Given the description of an element on the screen output the (x, y) to click on. 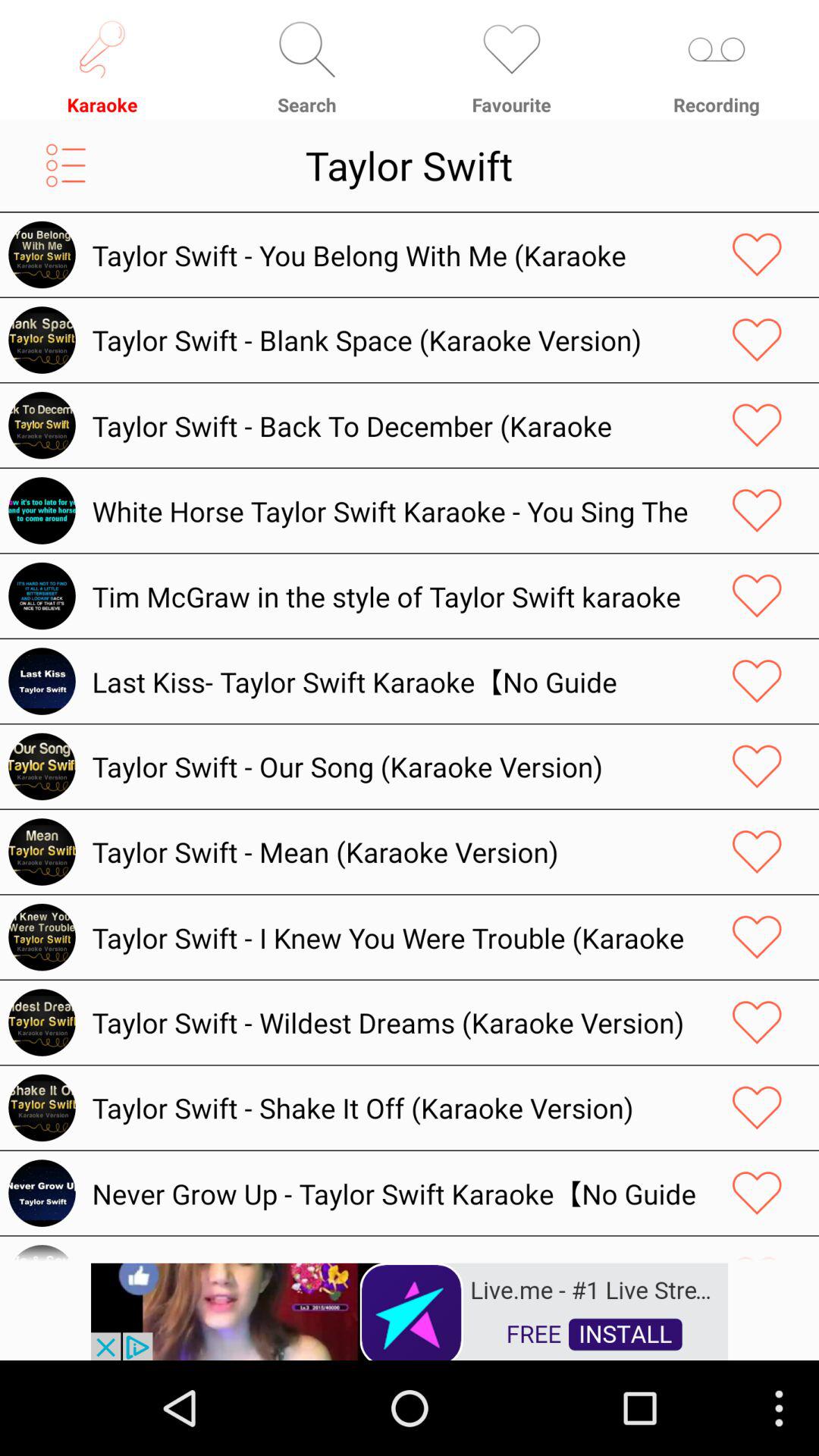
favorite it (756, 510)
